Given the description of an element on the screen output the (x, y) to click on. 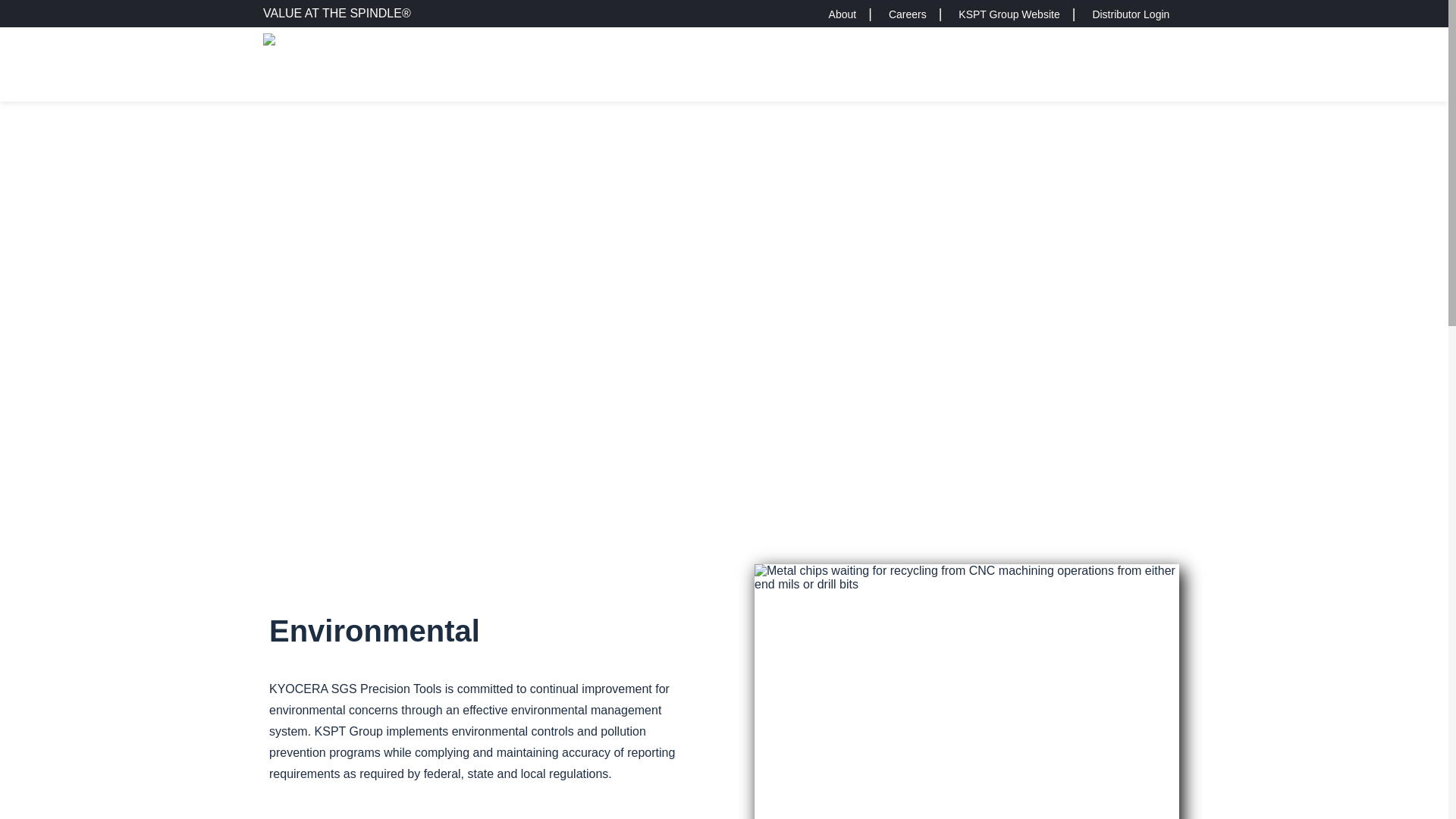
Distributor Login (1130, 14)
KSPT Group Website (1008, 14)
SGS Kyocera (316, 67)
About (842, 14)
Careers (907, 14)
